Given the description of an element on the screen output the (x, y) to click on. 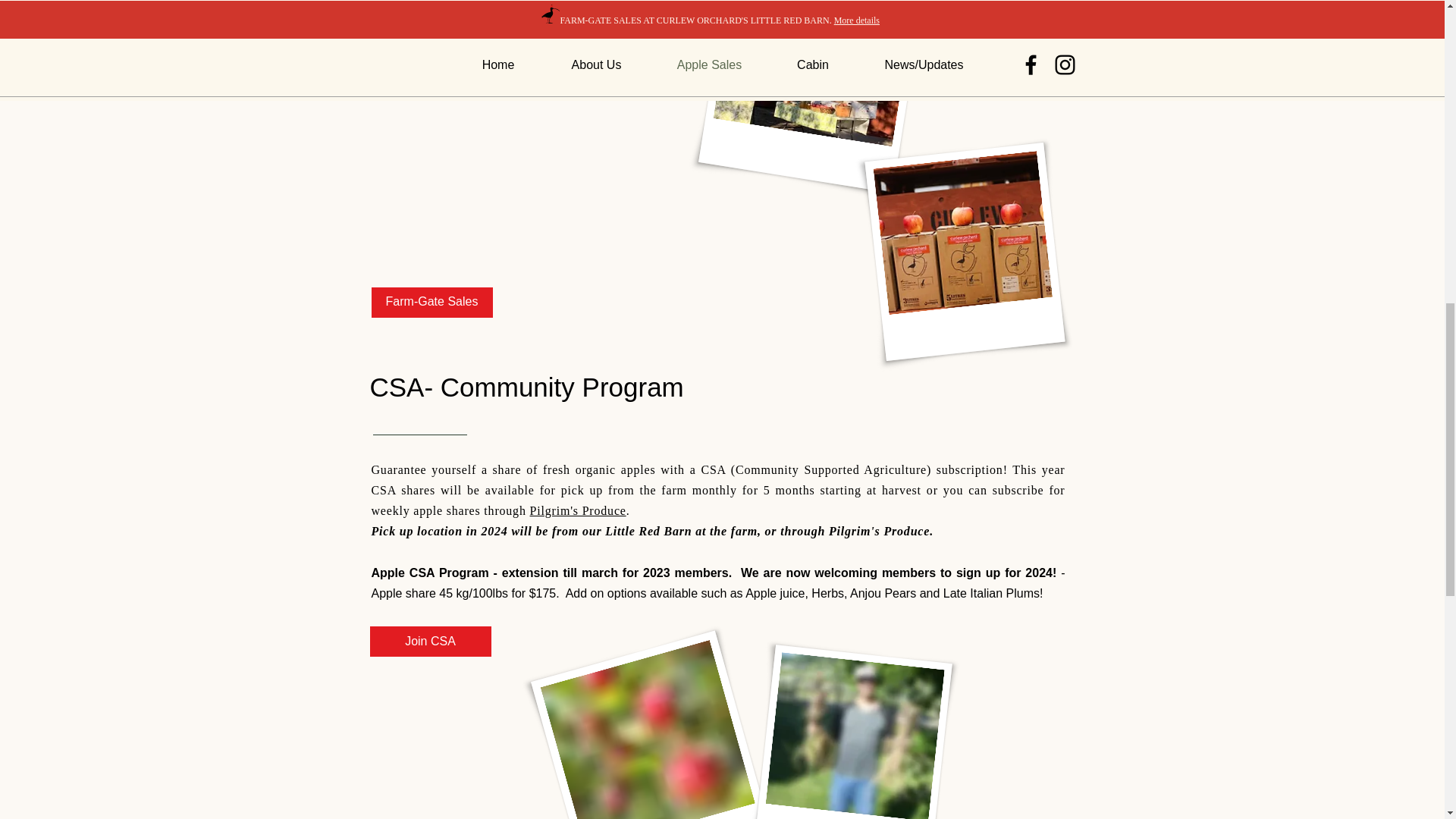
Join CSA (430, 641)
Farm-Gate Sales (432, 302)
Pilgrim's Produce (577, 510)
